Given the description of an element on the screen output the (x, y) to click on. 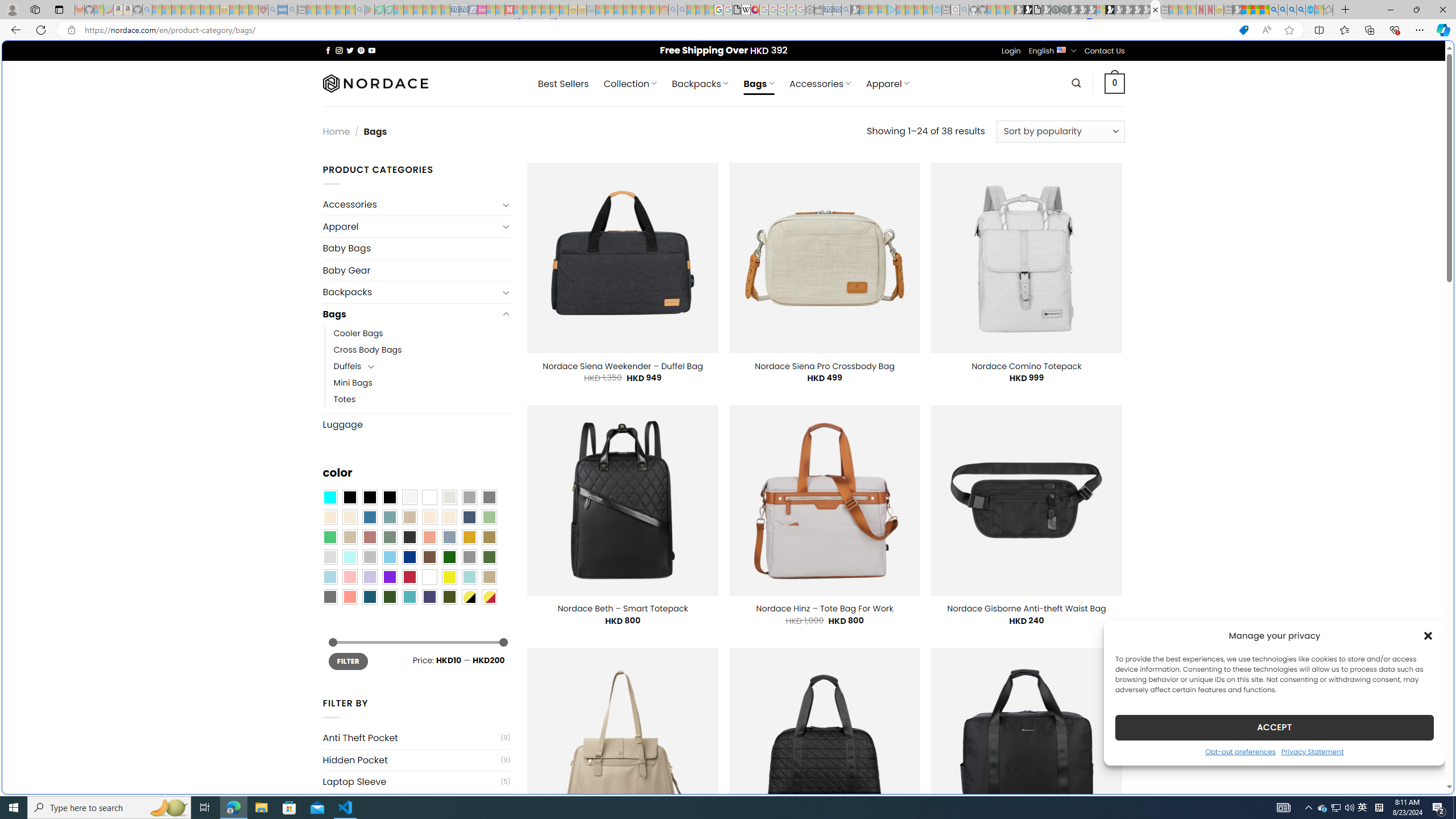
Baby Gear (416, 269)
Hidden Pocket (410, 760)
  Best Sellers (563, 83)
Search or enter web address (922, 108)
Follow on Twitter (349, 49)
